Given the description of an element on the screen output the (x, y) to click on. 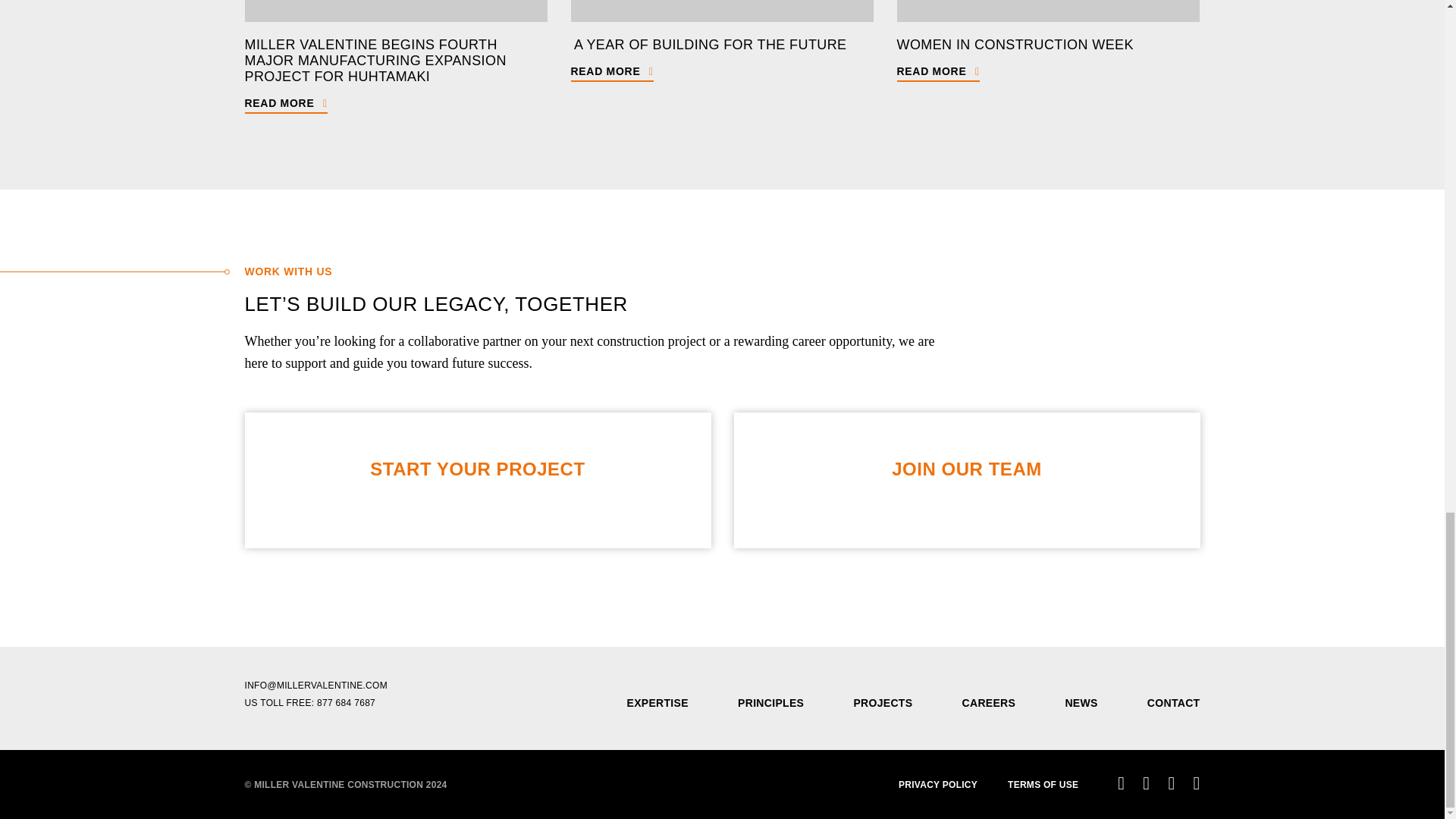
READ MORE (285, 102)
START YOUR PROJECT (477, 483)
READ MORE (937, 70)
READ MORE (611, 70)
JOIN OUR TEAM (966, 483)
